Given the description of an element on the screen output the (x, y) to click on. 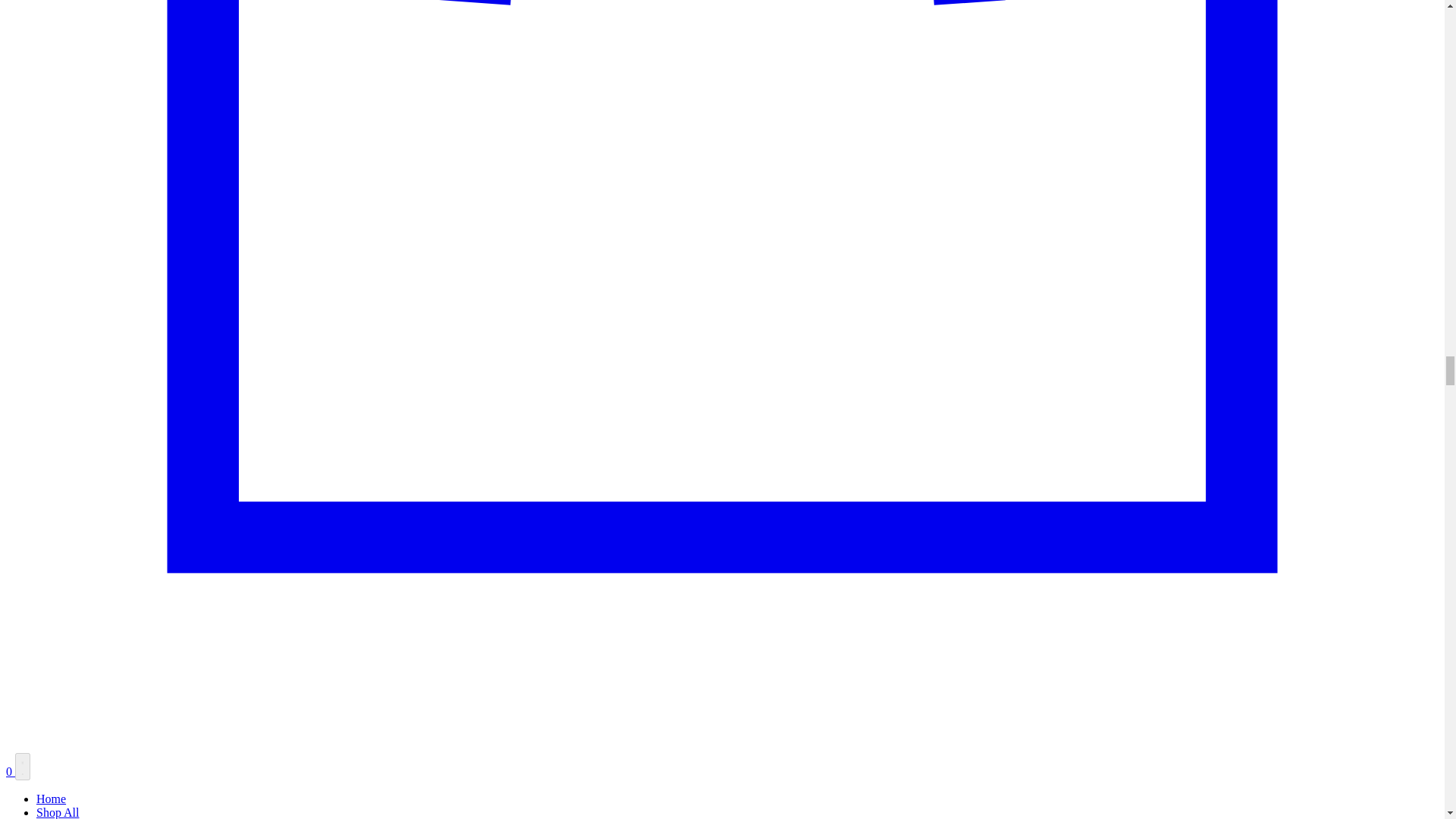
Shop All (57, 812)
Home (50, 798)
